Given the description of an element on the screen output the (x, y) to click on. 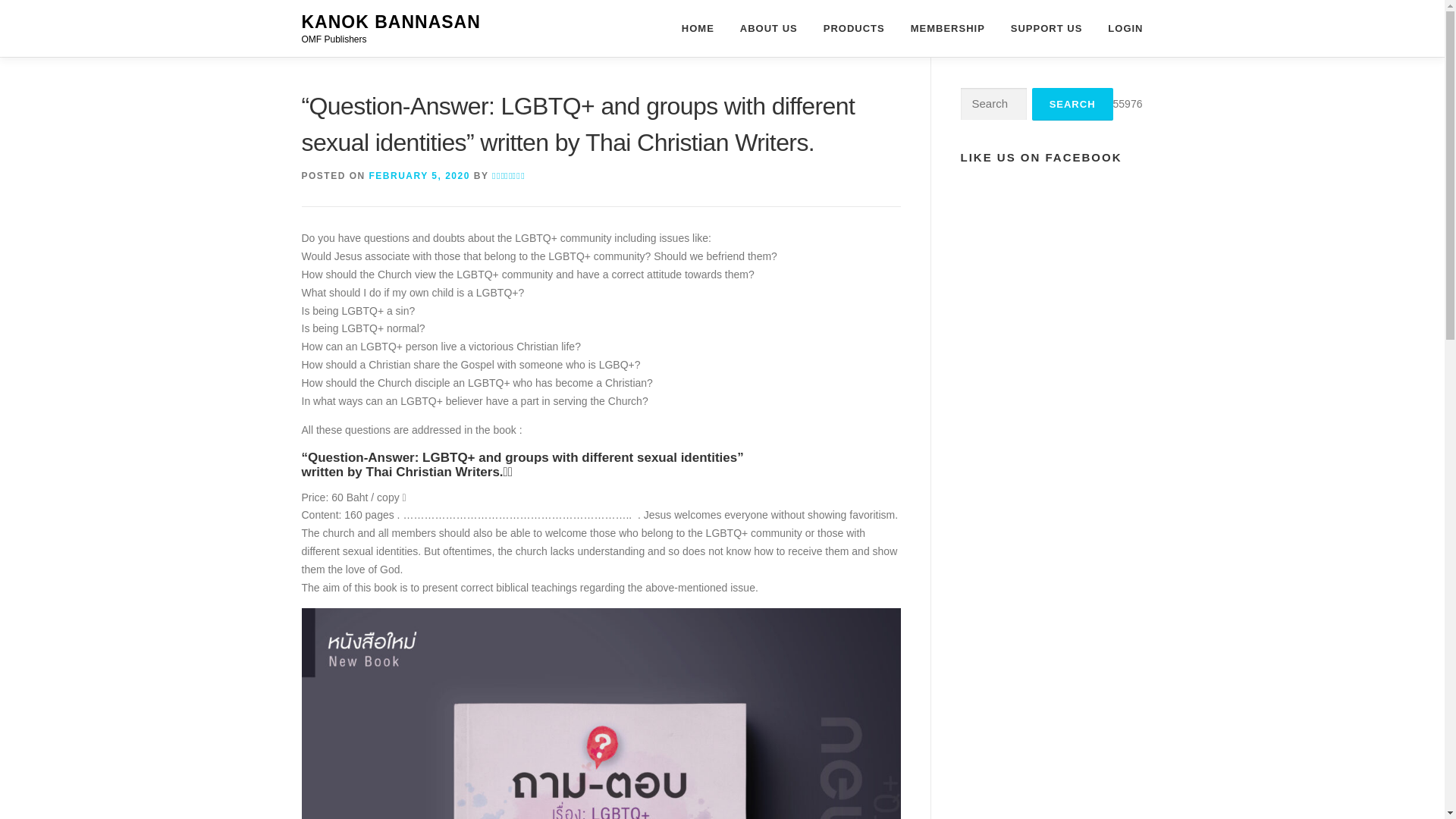
FEBRUARY 5, 2020 (419, 175)
HOME (697, 28)
KANOK BANNASAN (390, 21)
MEMBERSHIP (947, 28)
Search (1072, 103)
Search (1072, 103)
Search (1072, 103)
PRODUCTS (854, 28)
ABOUT US (768, 28)
SUPPORT US (1046, 28)
